Given the description of an element on the screen output the (x, y) to click on. 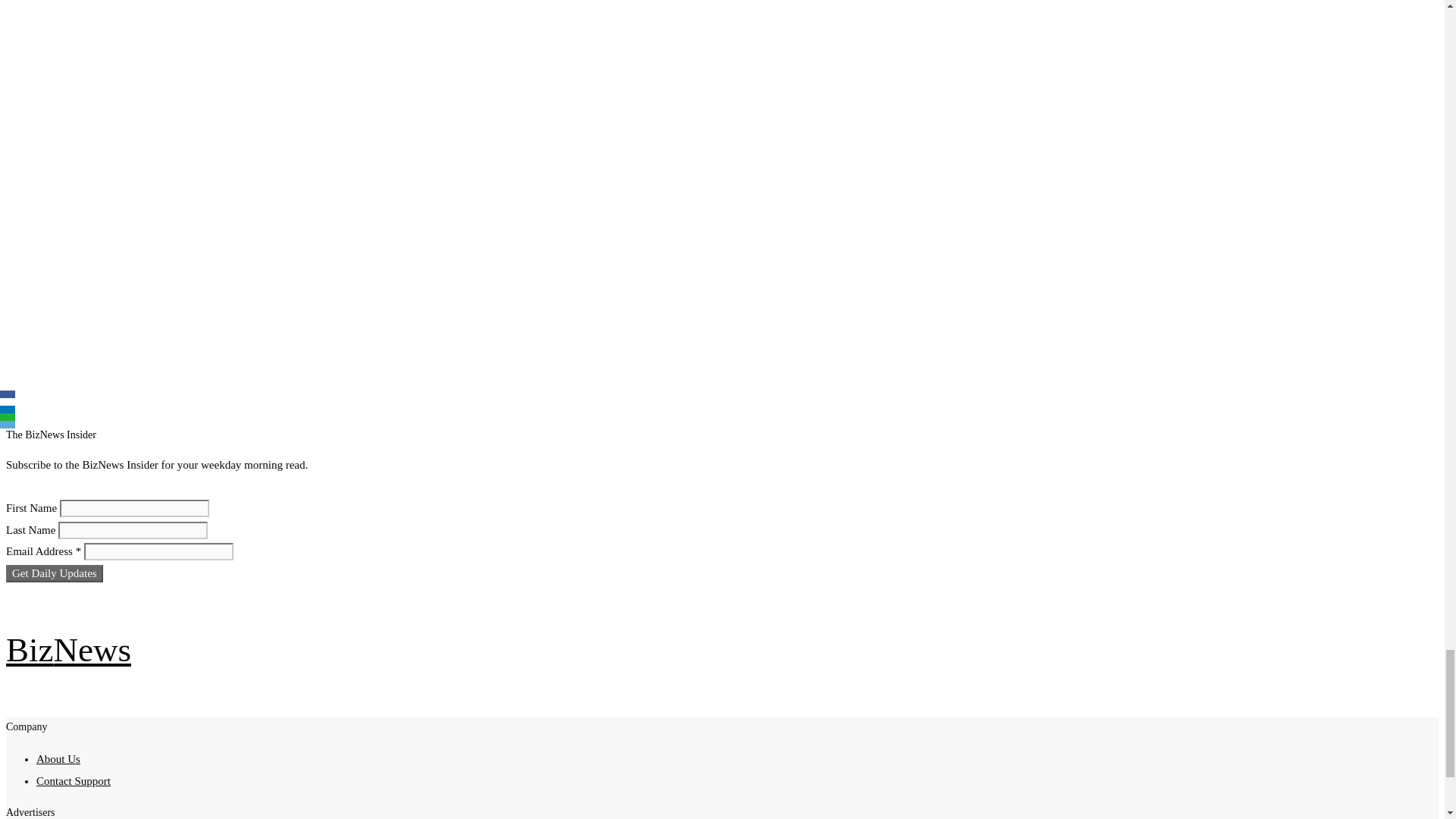
BizNews (68, 649)
Get Daily Updates (54, 573)
